Given the description of an element on the screen output the (x, y) to click on. 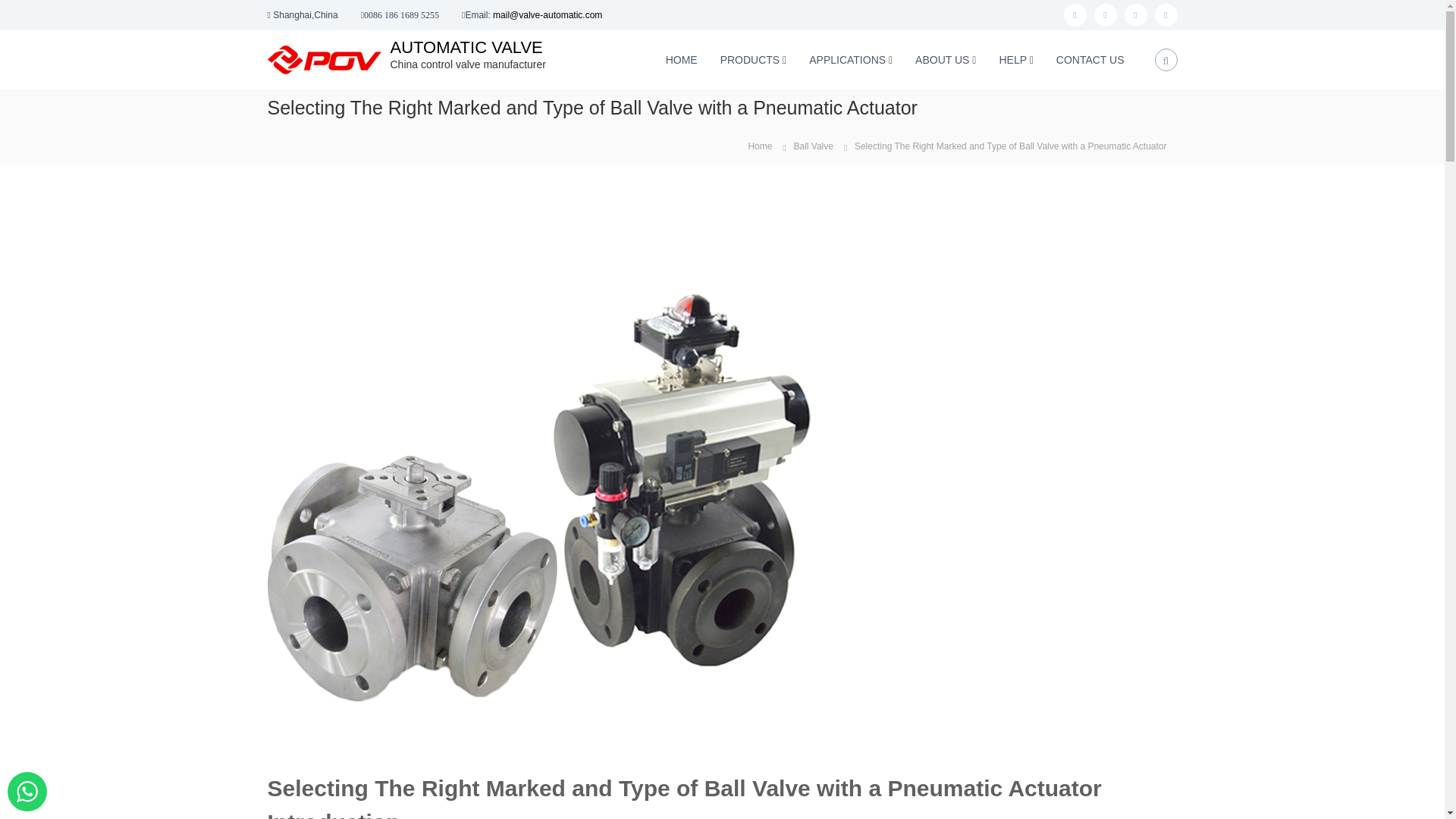
PRODUCTS (750, 59)
APPLICATIONS (847, 59)
instagram (1104, 15)
youtube (1135, 15)
Home (759, 145)
HOME (681, 59)
facebook (1074, 15)
WhatsApp us (26, 791)
AUTOMATIC VALVE (465, 46)
linkedin (1165, 15)
